Given the description of an element on the screen output the (x, y) to click on. 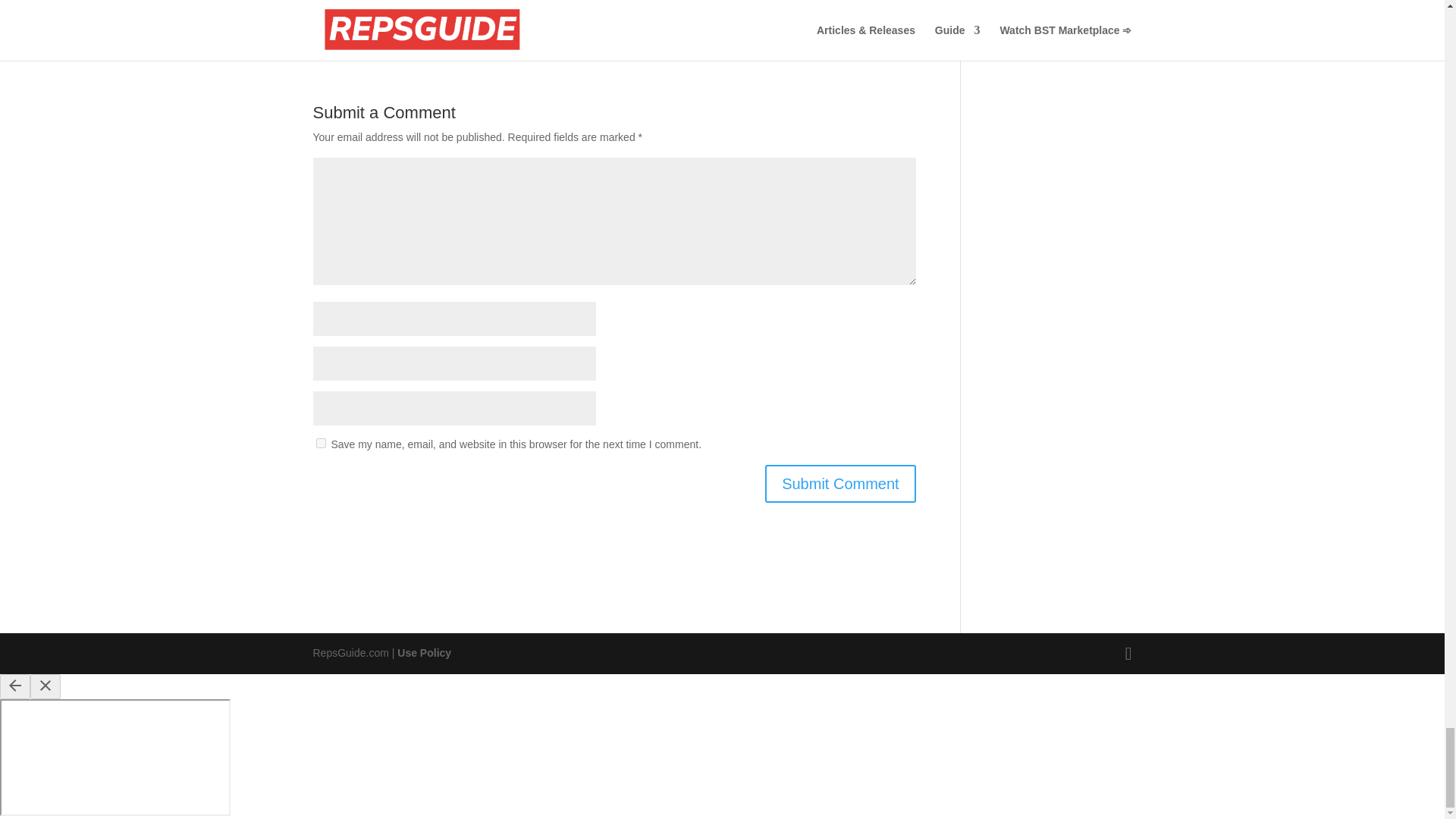
Submit Comment (840, 483)
yes (319, 442)
